Given the description of an element on the screen output the (x, y) to click on. 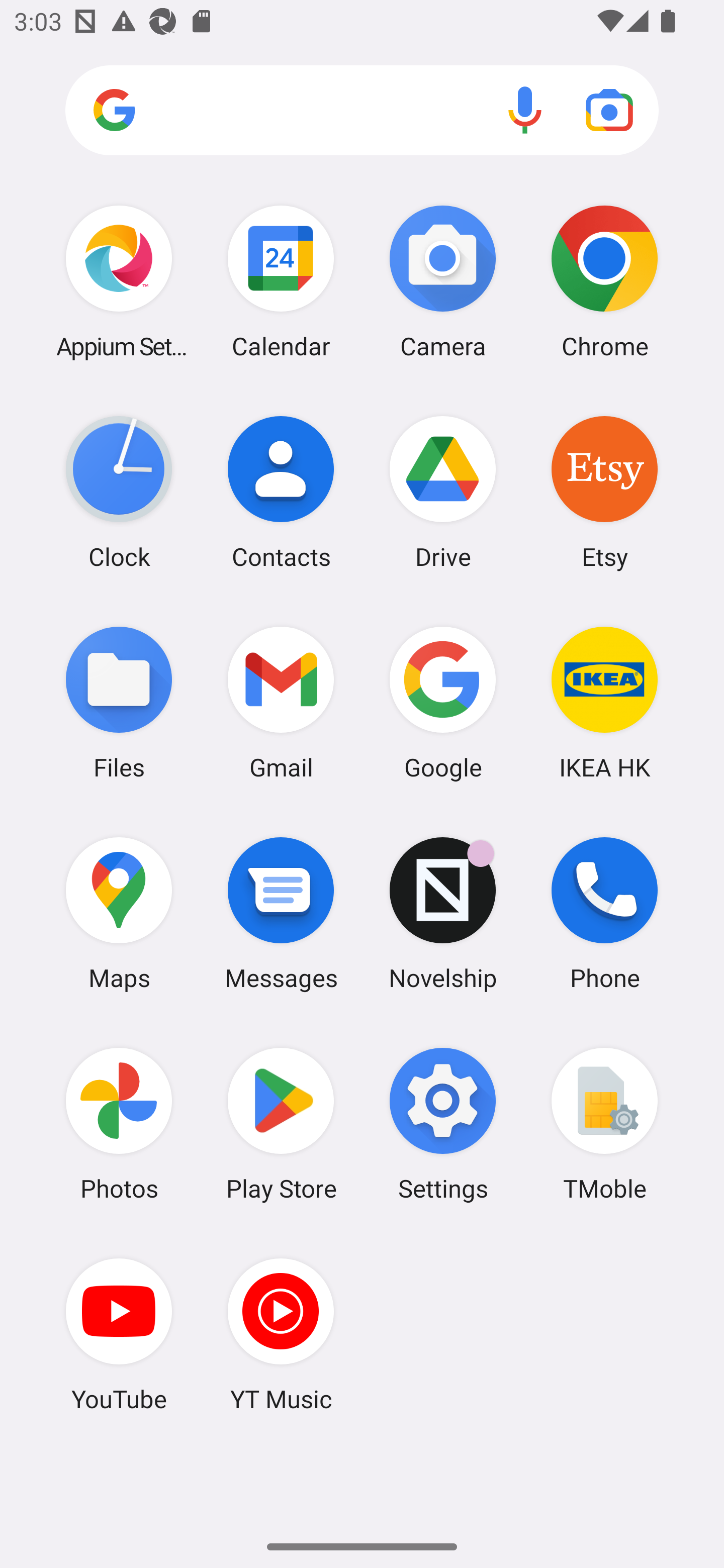
Search apps, web and more (361, 110)
Voice search (524, 109)
Google Lens (608, 109)
Appium Settings (118, 281)
Calendar (280, 281)
Camera (443, 281)
Chrome (604, 281)
Clock (118, 492)
Contacts (280, 492)
Drive (443, 492)
Etsy (604, 492)
Files (118, 702)
Gmail (280, 702)
Google (443, 702)
IKEA HK (604, 702)
Maps (118, 913)
Messages (280, 913)
Novelship Novelship has 1 notification (443, 913)
Phone (604, 913)
Photos (118, 1124)
Play Store (280, 1124)
Settings (443, 1124)
TMoble (604, 1124)
YouTube (118, 1334)
YT Music (280, 1334)
